Given the description of an element on the screen output the (x, y) to click on. 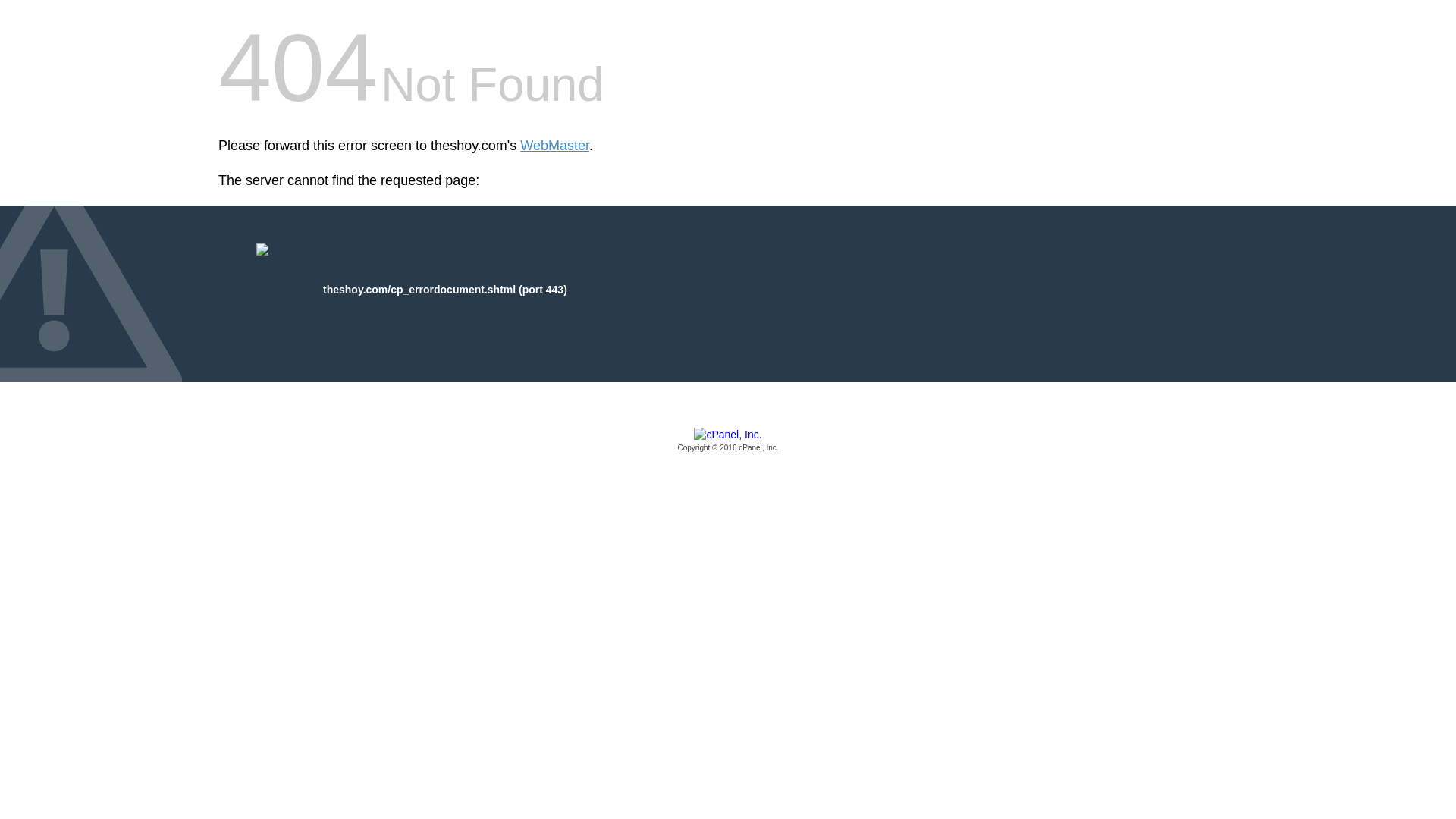
WebMaster (554, 145)
cPanel, Inc. (727, 440)
